Given the description of an element on the screen output the (x, y) to click on. 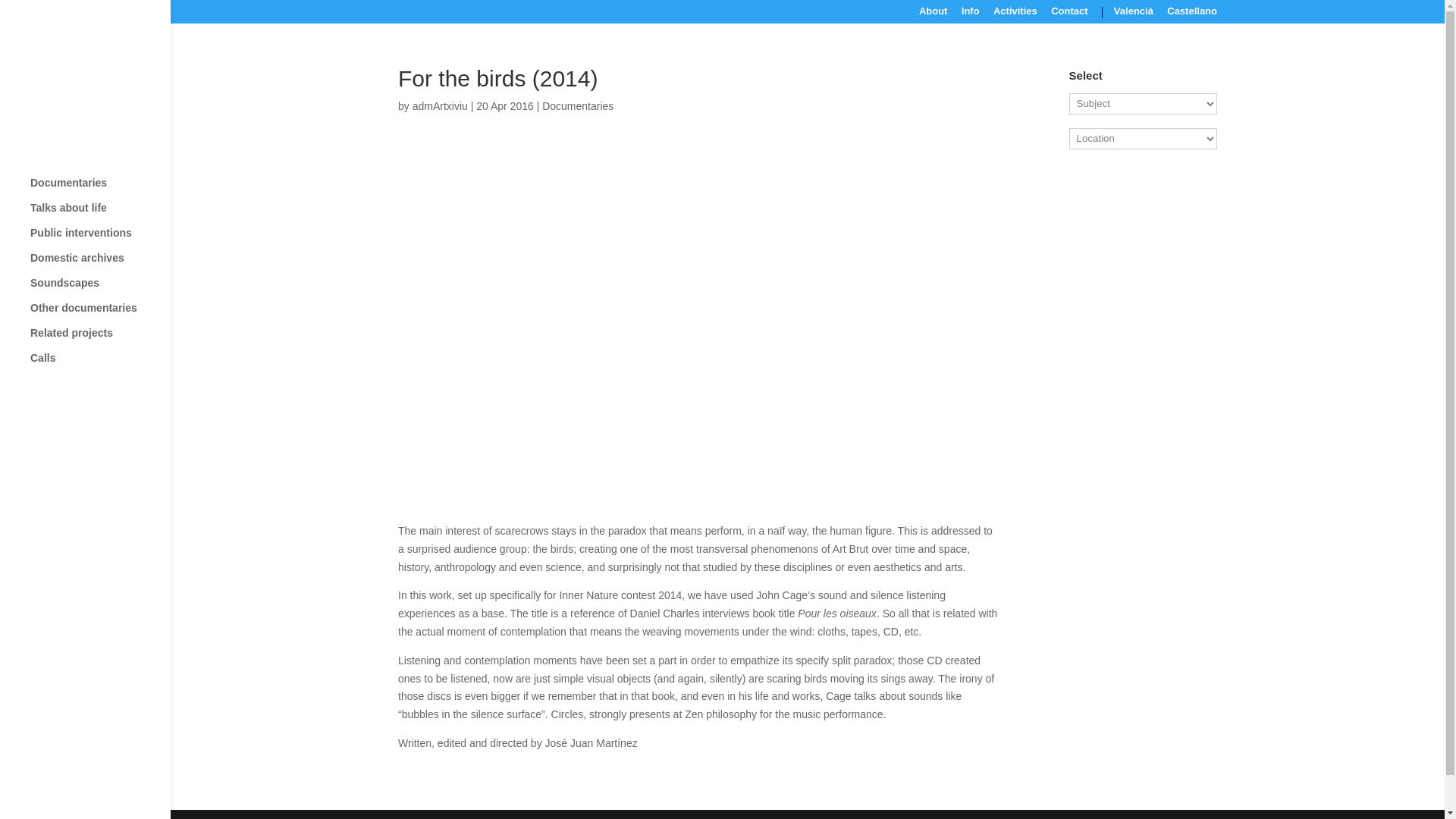
Documentaries (576, 105)
Posts by admArtxiviu (439, 105)
Activities (1014, 14)
Castellano (1192, 14)
Talks about life (100, 214)
Public interventions (100, 239)
Calls (100, 364)
Info (969, 14)
Other documentaries (100, 314)
Soundscapes (100, 289)
